Given the description of an element on the screen output the (x, y) to click on. 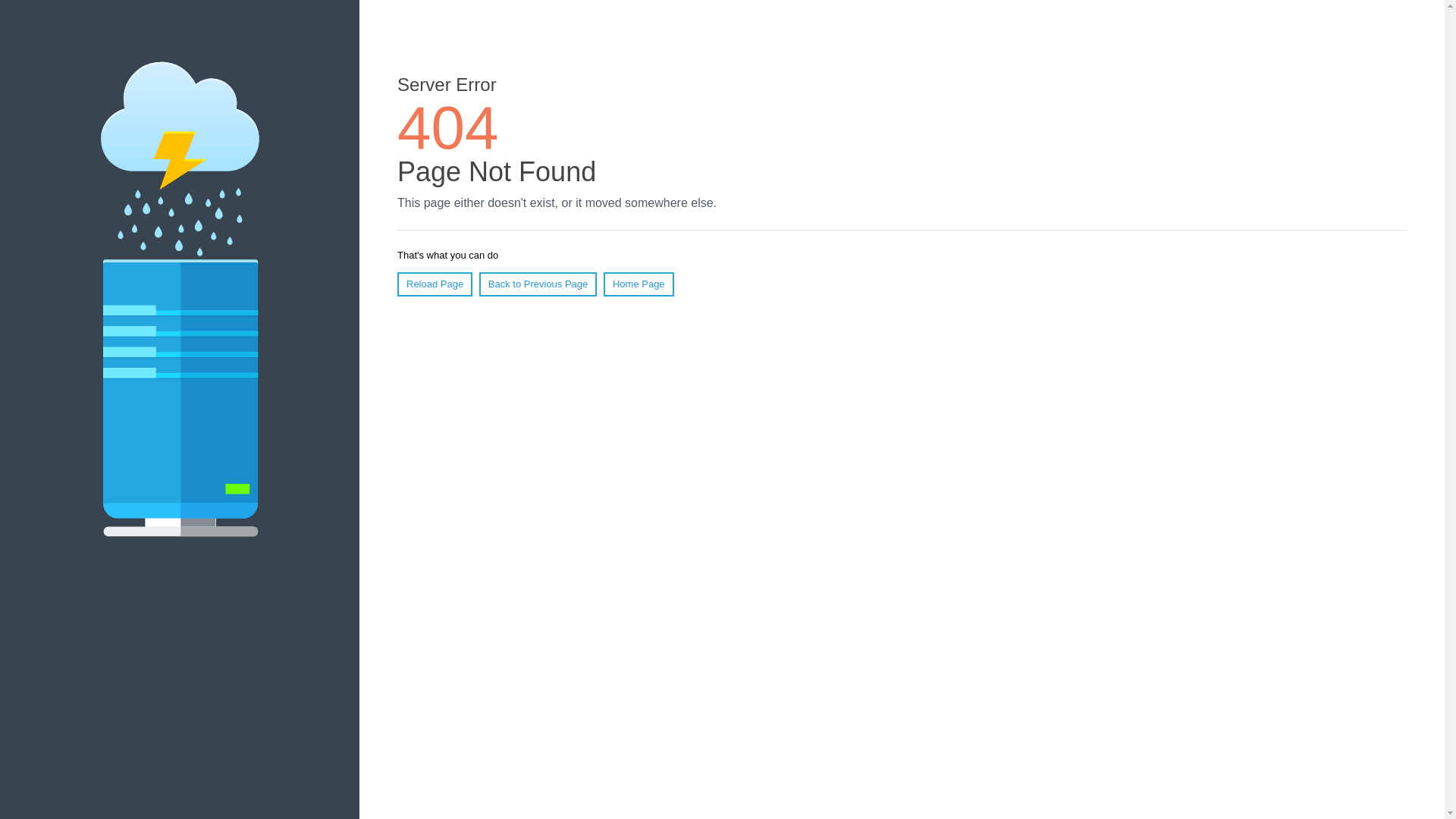
Reload Page Element type: text (434, 284)
Back to Previous Page Element type: text (538, 284)
Home Page Element type: text (638, 284)
